Given the description of an element on the screen output the (x, y) to click on. 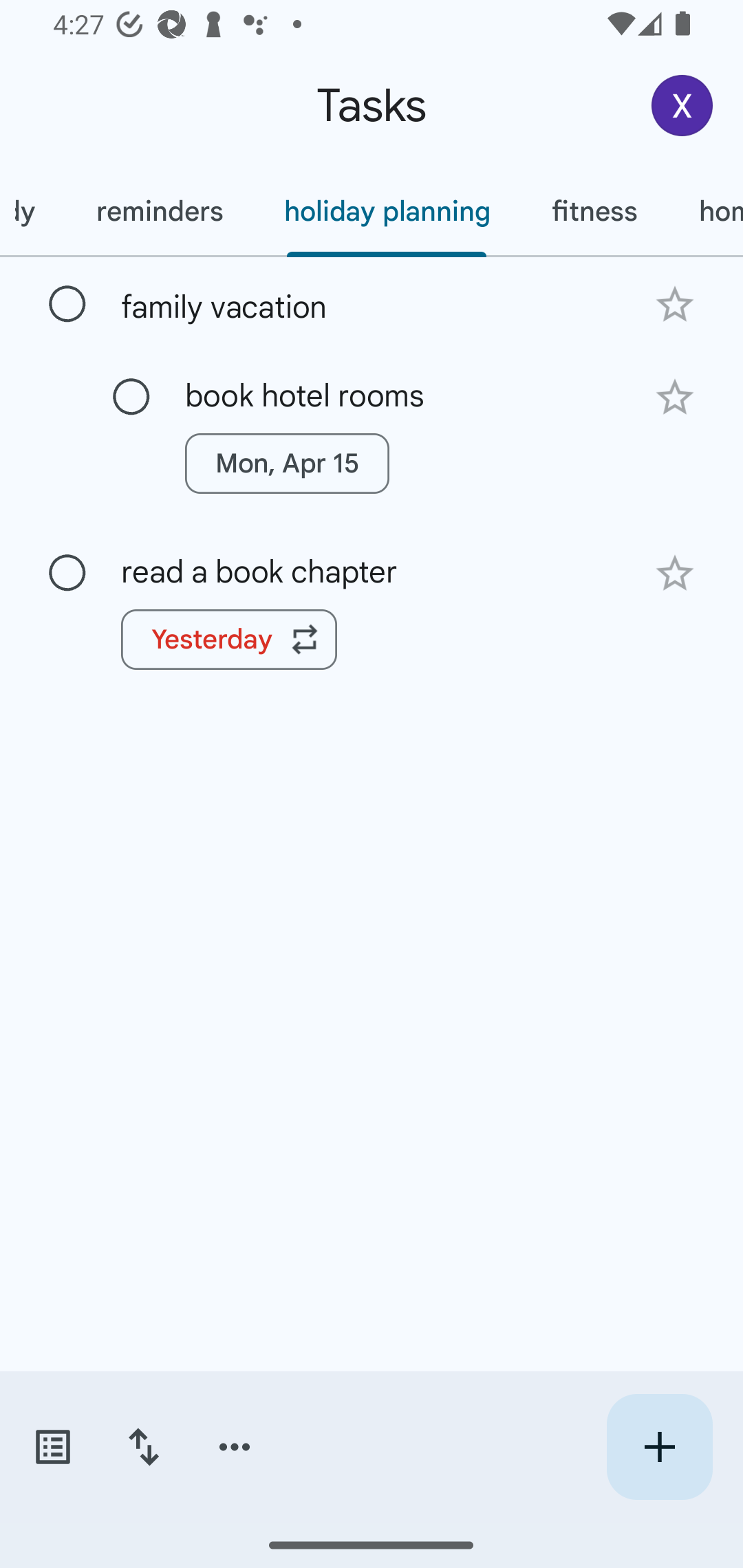
reminders (159, 211)
fitness (593, 211)
Add star (674, 303)
Mark as complete (67, 304)
Add star (674, 397)
Mark as complete (131, 397)
Mon, Apr 15 (287, 463)
Add star (674, 573)
Mark as complete (67, 572)
Yesterday (229, 639)
Switch task lists (52, 1447)
Create new task (659, 1446)
Change sort order (143, 1446)
More options (234, 1446)
